Given the description of an element on the screen output the (x, y) to click on. 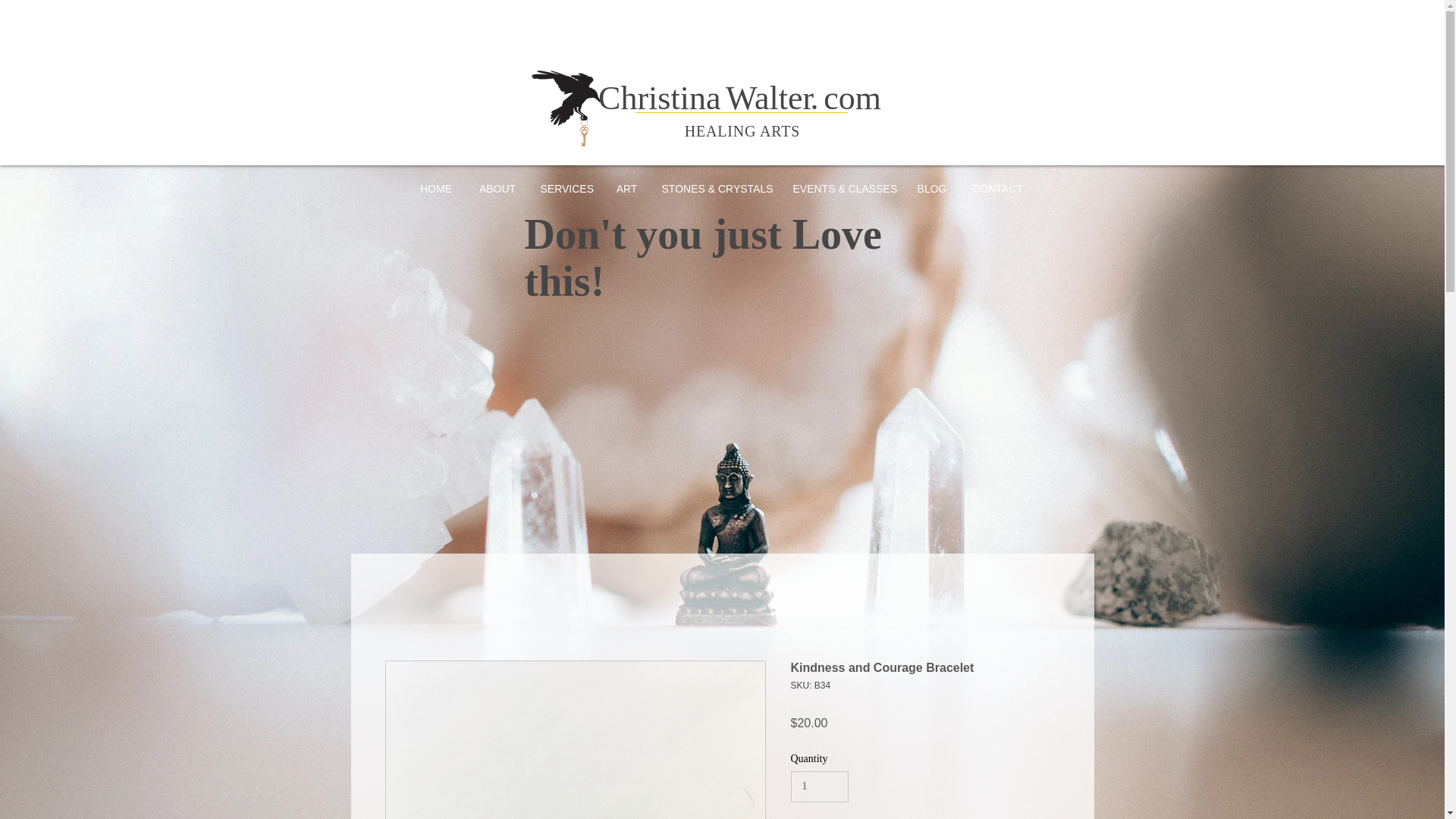
CONTACT (997, 188)
HOME (435, 188)
1 (818, 786)
BLOG (931, 188)
ART (627, 188)
ABOUT (496, 188)
SERVICES (566, 188)
